Given the description of an element on the screen output the (x, y) to click on. 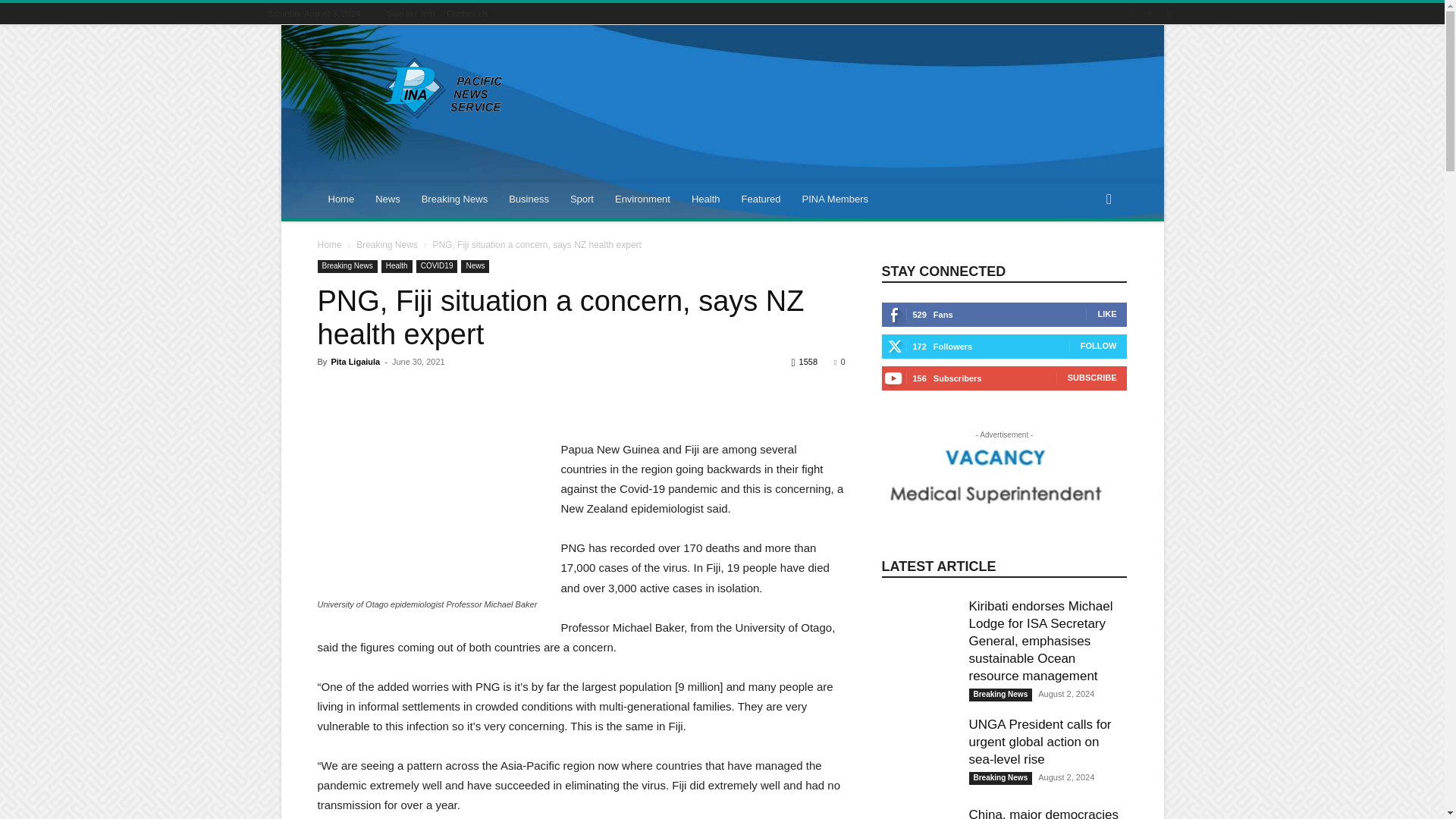
Pacific Islands News Association (445, 88)
News (387, 198)
Home (341, 198)
Contact Us (466, 13)
